Given the description of an element on the screen output the (x, y) to click on. 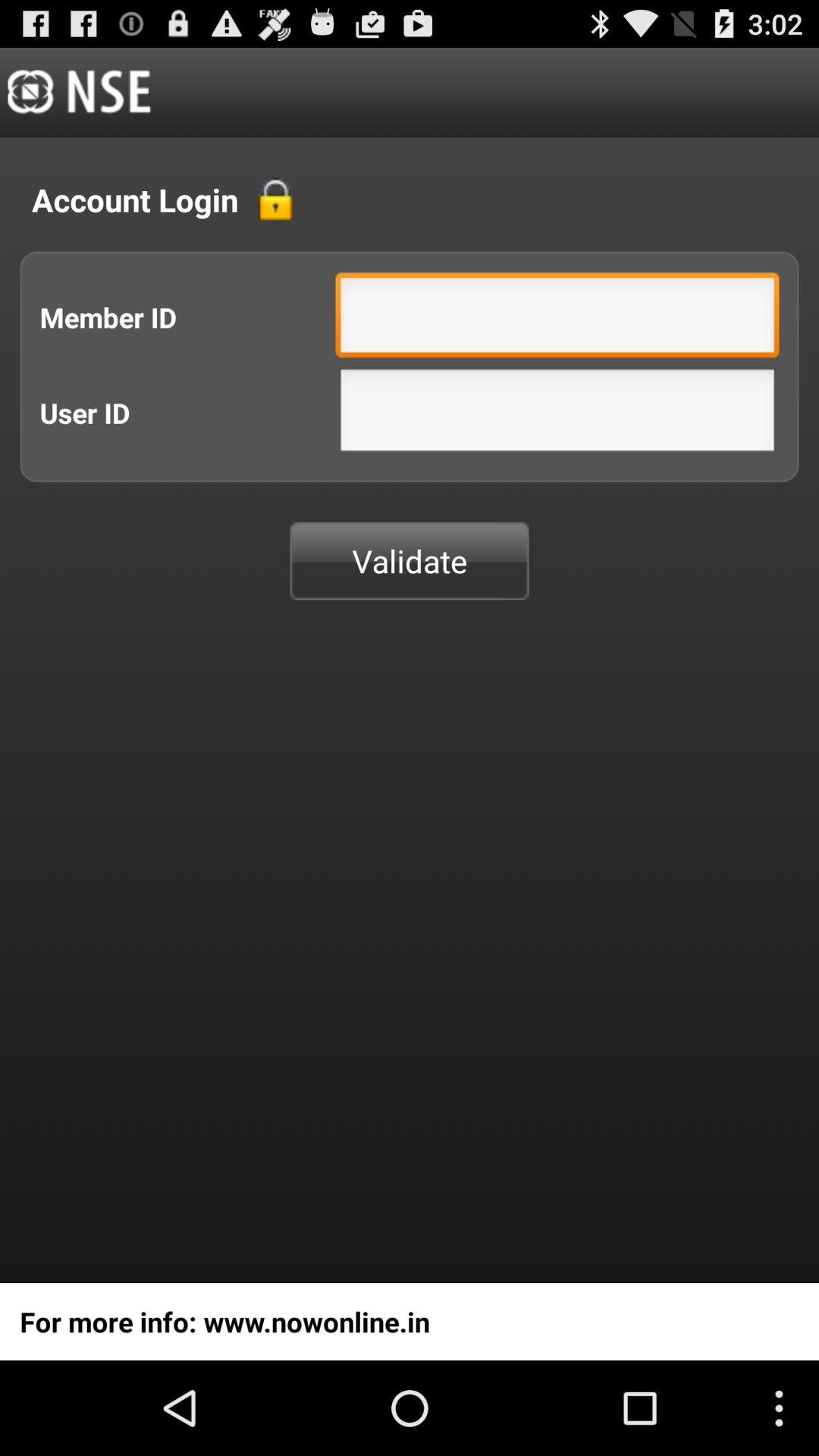
turn on the button at the center (409, 561)
